Given the description of an element on the screen output the (x, y) to click on. 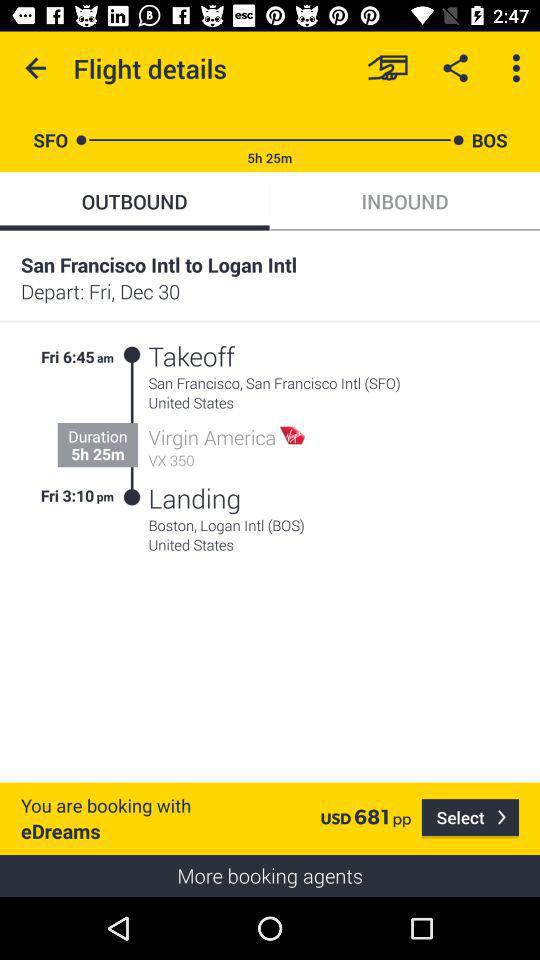
open the icon next to takeoff item (131, 426)
